Given the description of an element on the screen output the (x, y) to click on. 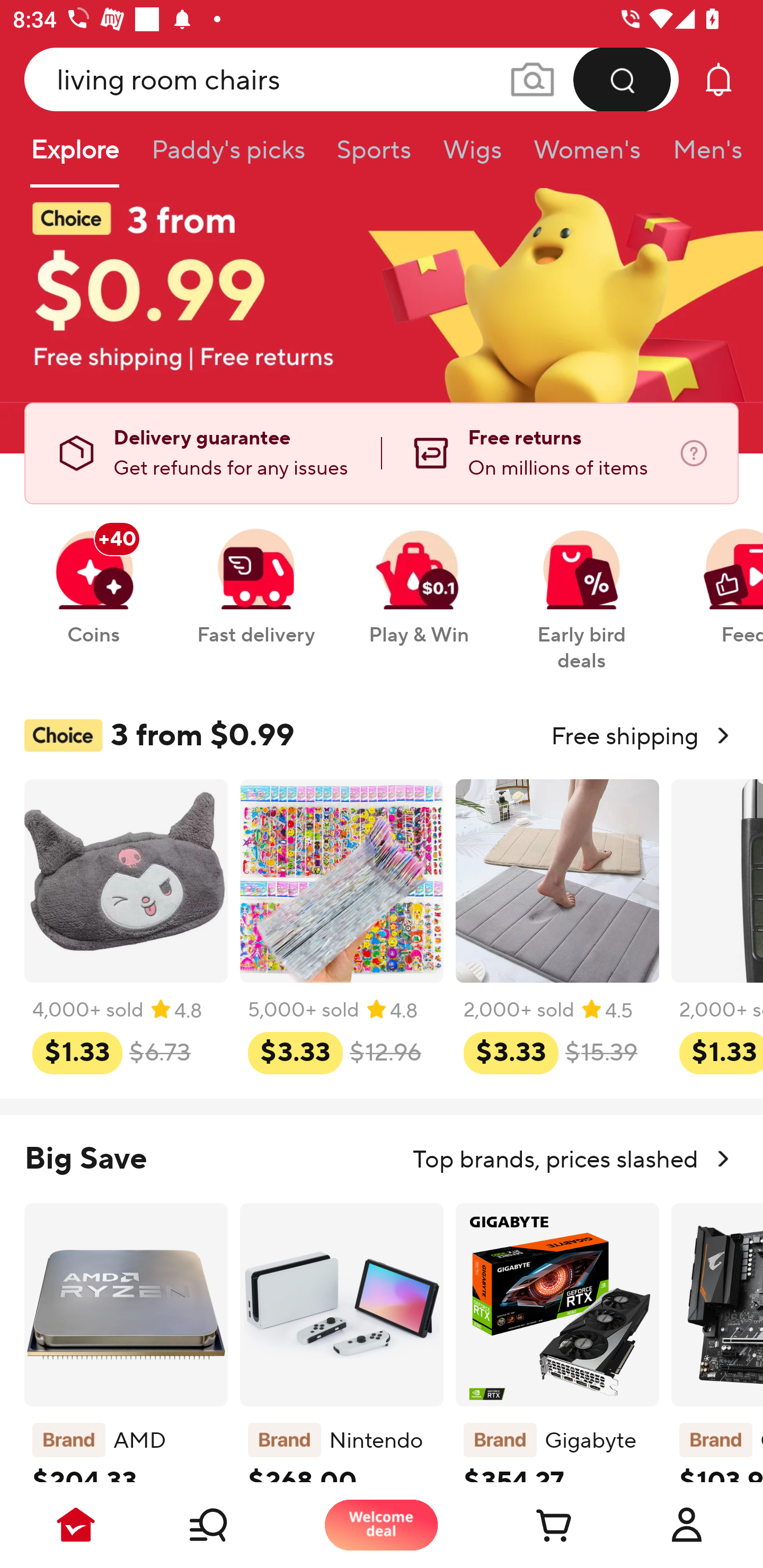
living room chairs (351, 79)
Paddy's picks (227, 155)
Sports (373, 155)
Wigs (472, 155)
Women's (586, 155)
Men's (701, 155)
Coinsbutton +40 Coins (93, 576)
Fast deliverybutton Fast delivery (255, 576)
Play & Winbutton Play & Win (418, 576)
Early bird dealsbutton Early bird deals (581, 589)
Feedbutton Feed (719, 576)
Shop (228, 1524)
Cart (533, 1524)
Account (686, 1524)
